Given the description of an element on the screen output the (x, y) to click on. 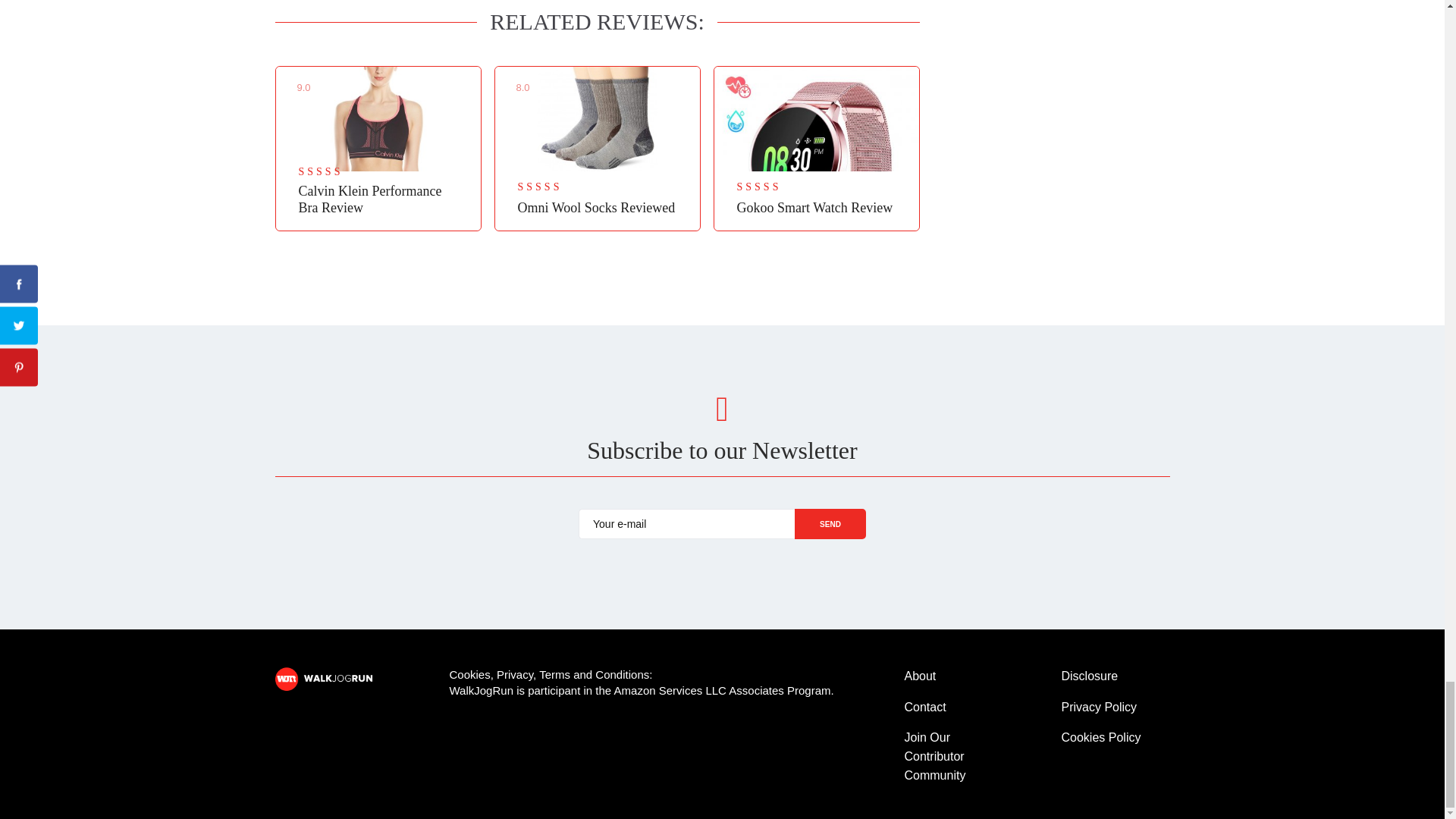
Your e-mail (686, 523)
Rated 4.5 out of 5 (333, 172)
Rated 4 out of 5 (771, 187)
WalkJogRun (329, 679)
Rated 4 out of 5 (551, 187)
